Given the description of an element on the screen output the (x, y) to click on. 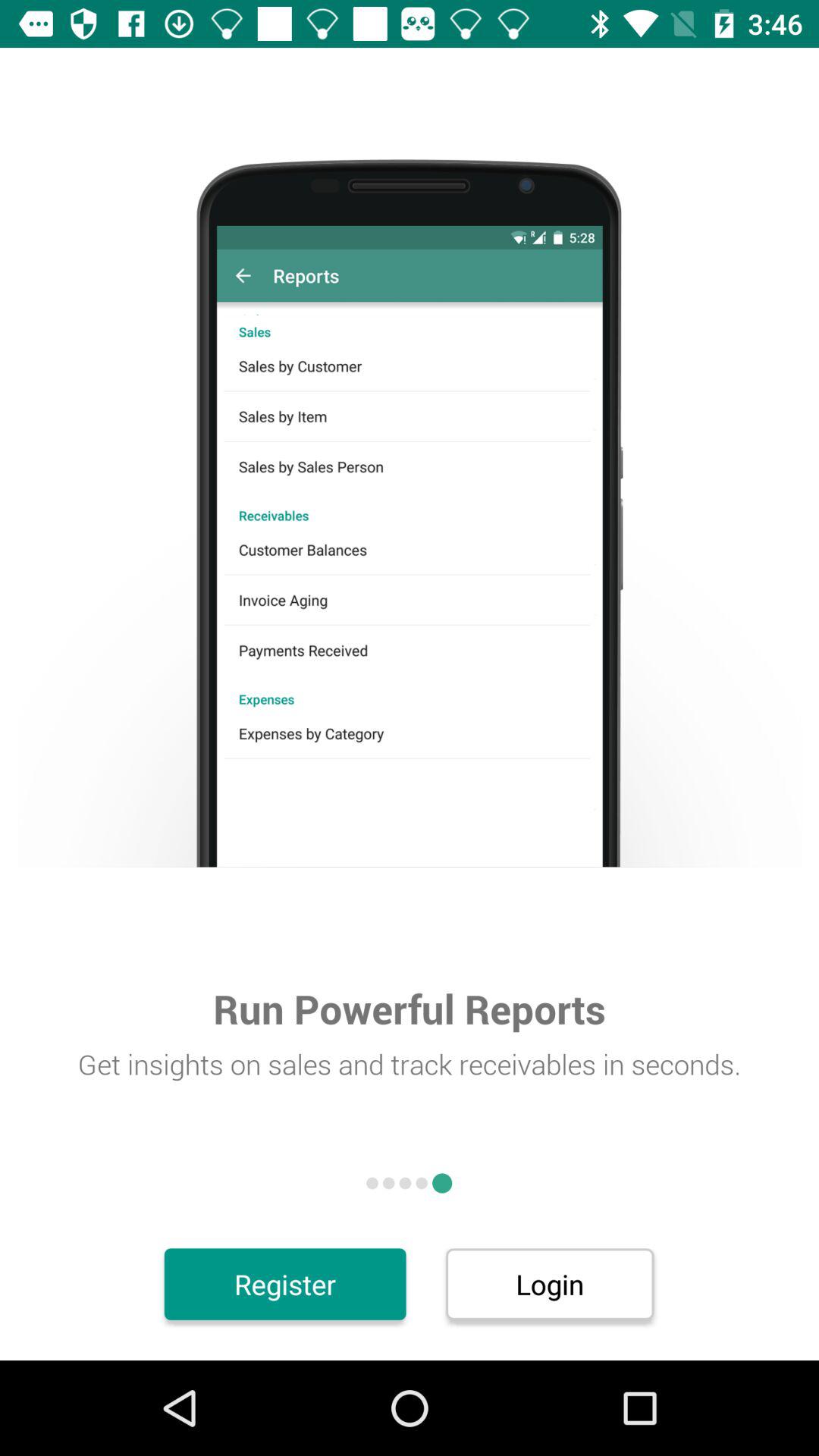
launch icon to the right of register button (549, 1284)
